Given the description of an element on the screen output the (x, y) to click on. 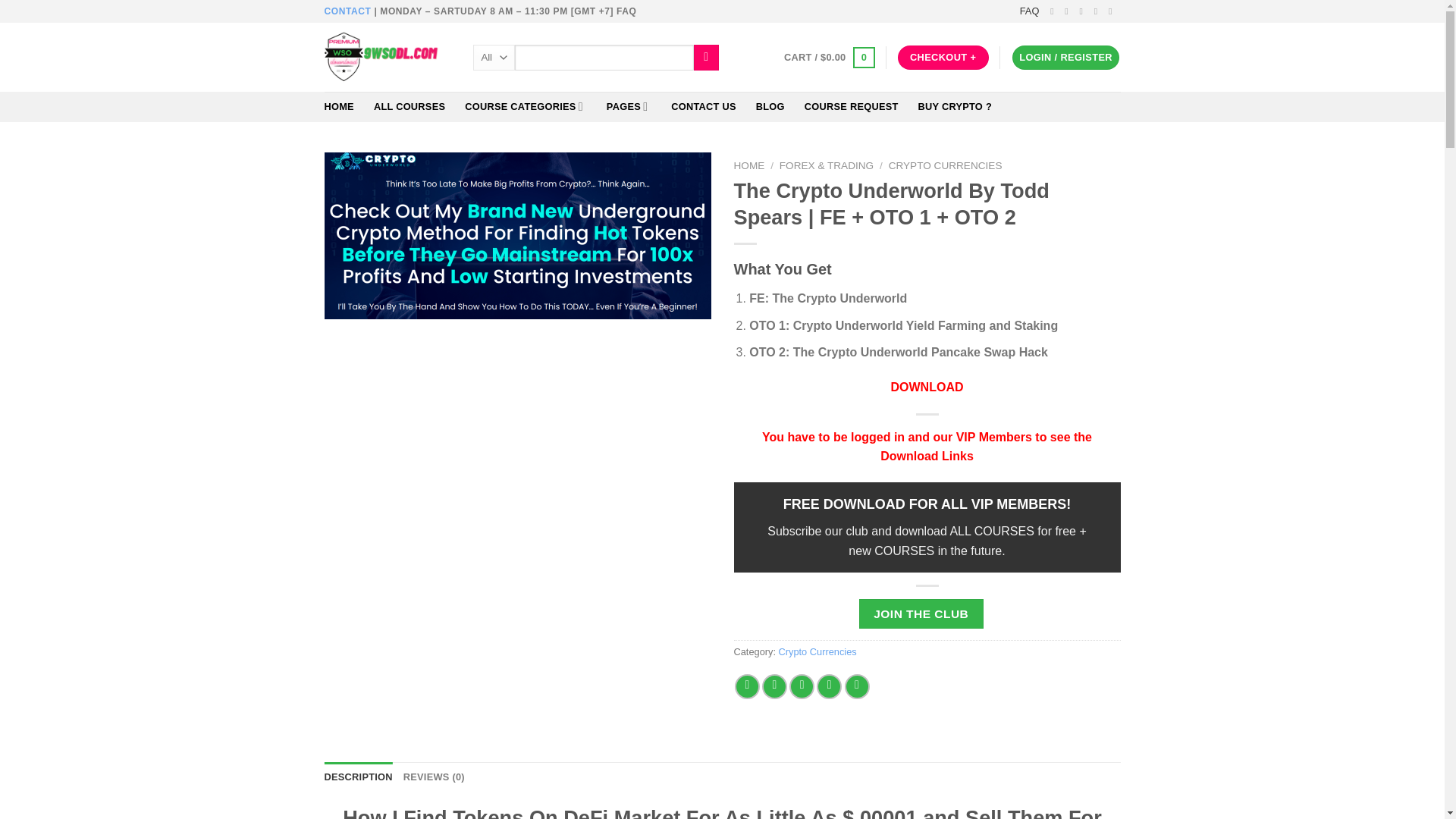
Search (706, 57)
HOME (338, 106)
ALL COURSES (409, 106)
Pin on Pinterest (828, 686)
COURSE CATEGORIES (525, 106)
Cart (829, 57)
Email to a Friend (801, 686)
Login (1065, 57)
Share on Twitter (774, 686)
Share on Facebook (747, 686)
